Given the description of an element on the screen output the (x, y) to click on. 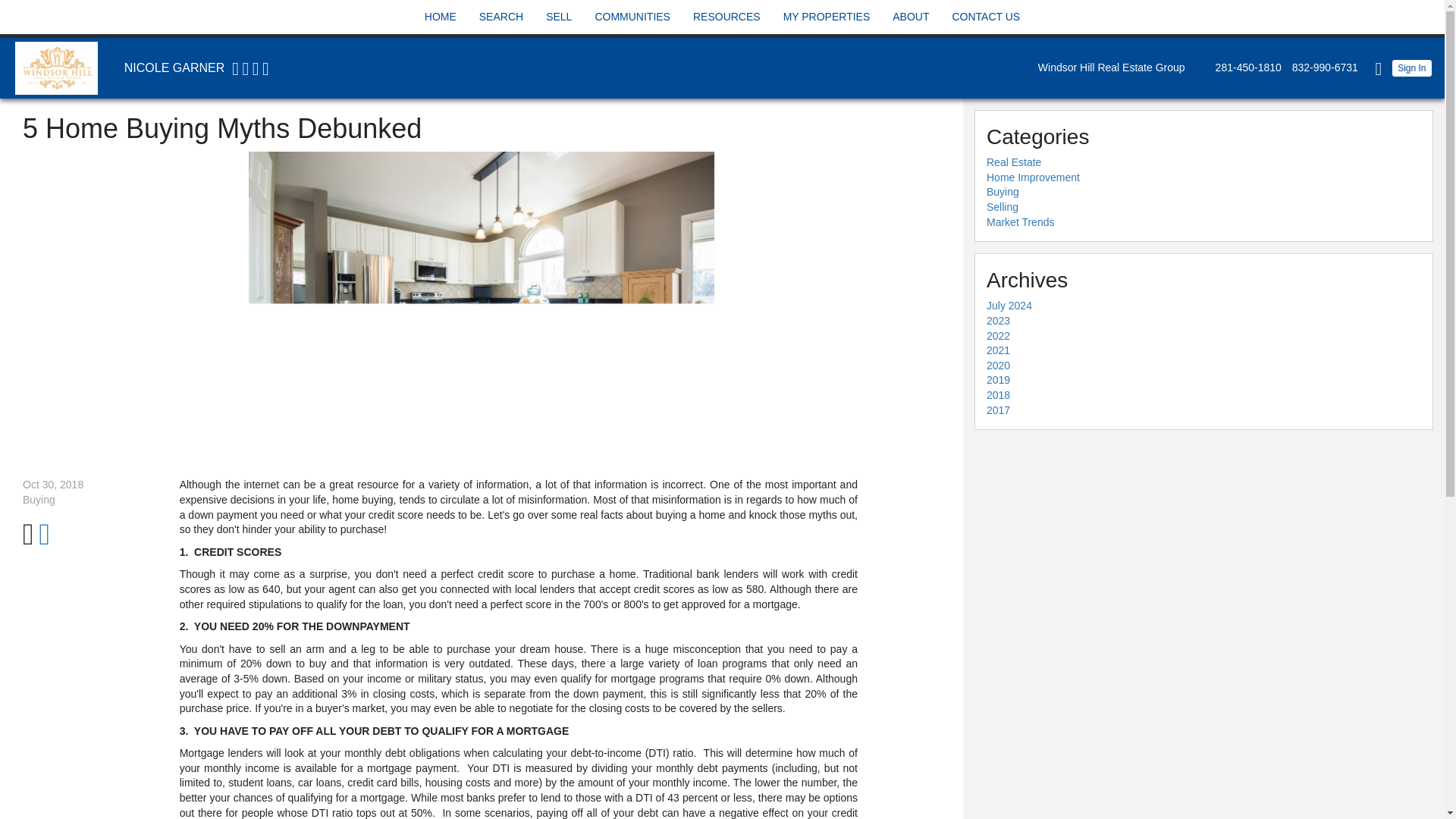
July 2024 (1009, 305)
Real Estate (1014, 162)
CONTACT US (985, 17)
2023 (998, 320)
SEARCH (501, 17)
Buying (1003, 191)
HOME (440, 17)
ABOUT (910, 17)
RESOURCES (726, 17)
SELL (558, 17)
Market Trends (1020, 222)
832-990-6731 (1321, 67)
2021 (998, 349)
Selling (1002, 206)
281-450-1810 (1244, 67)
